Given the description of an element on the screen output the (x, y) to click on. 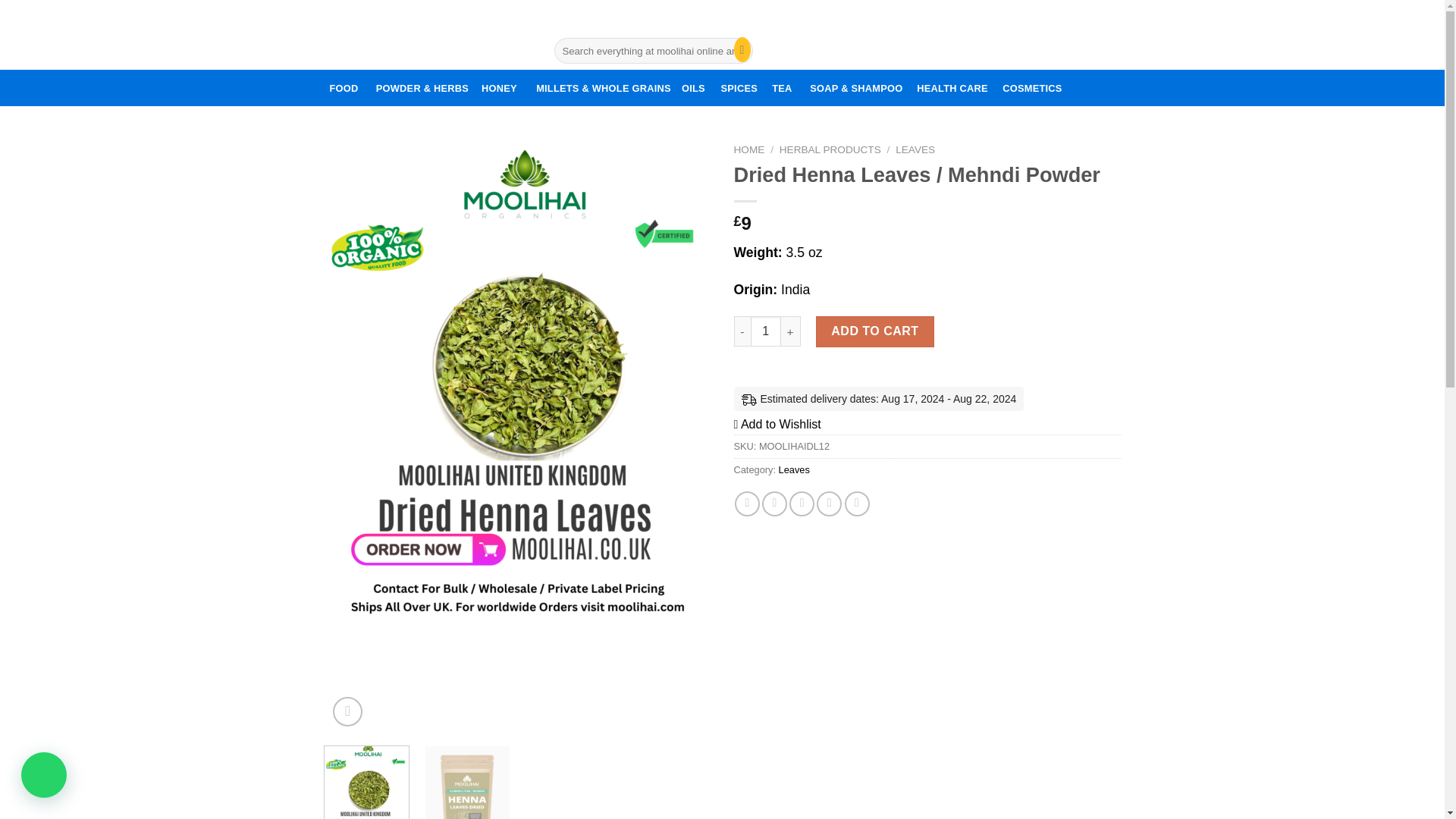
Zoom (347, 711)
Share on Twitter (774, 503)
OILS (693, 87)
SPICES (738, 87)
WISHLIST (586, 20)
LEAVES (914, 149)
Pin on Pinterest (828, 503)
Share on Facebook (747, 503)
Search (738, 50)
Moolihai UK - UK's Largest Herbal Store (425, 33)
